Given the description of an element on the screen output the (x, y) to click on. 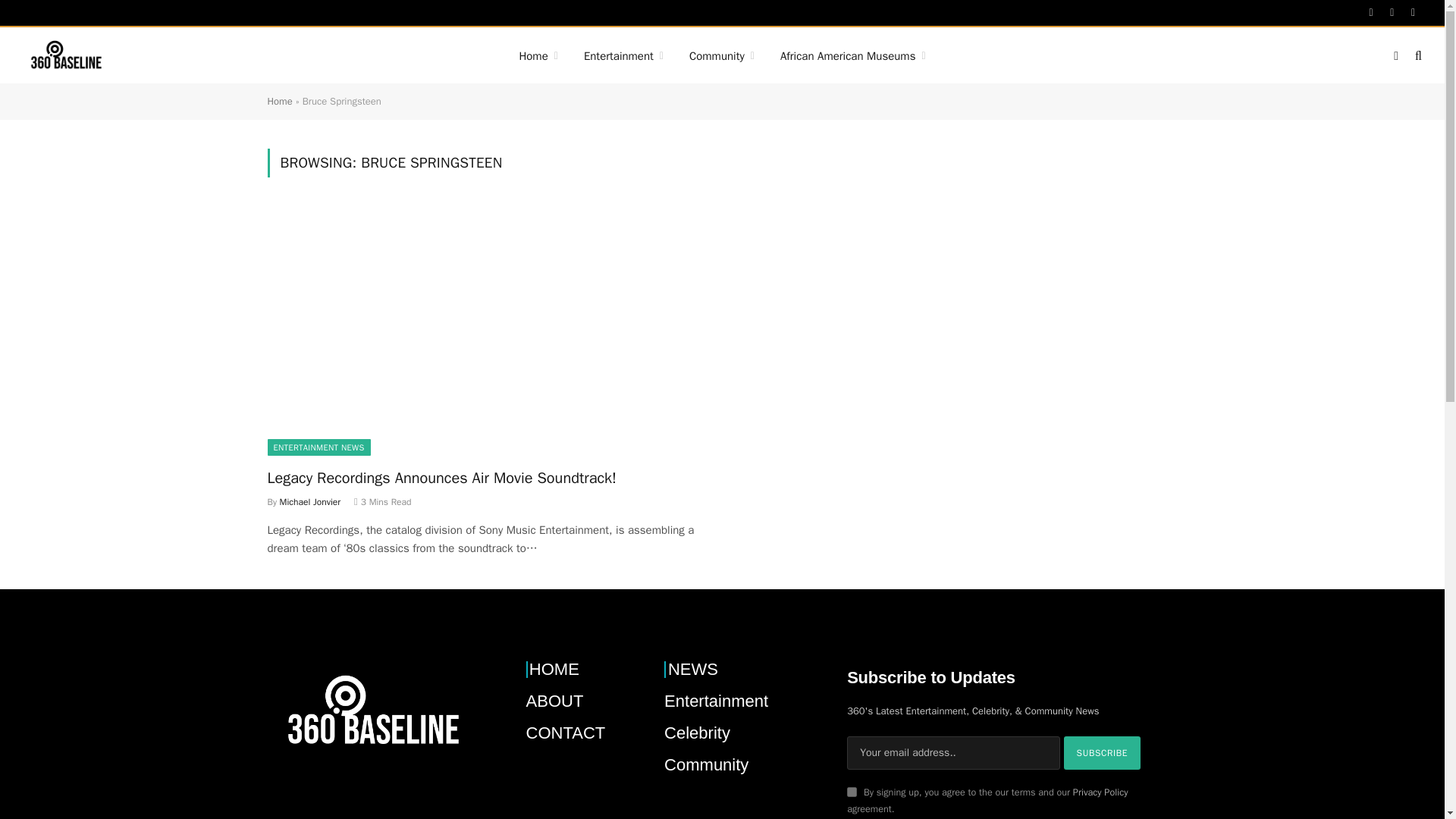
Legacy Recordings Announces Air Movie Soundtrack! (486, 331)
on (852, 791)
Subscribe (1102, 752)
African American Museums (853, 56)
Entertainment (623, 56)
Switch to Dark Design - easier on eyes. (1396, 55)
Home (537, 56)
Posts by Michael Jonvier (309, 501)
Community (722, 56)
360 BASELINE MOVEMENT (65, 56)
